Given the description of an element on the screen output the (x, y) to click on. 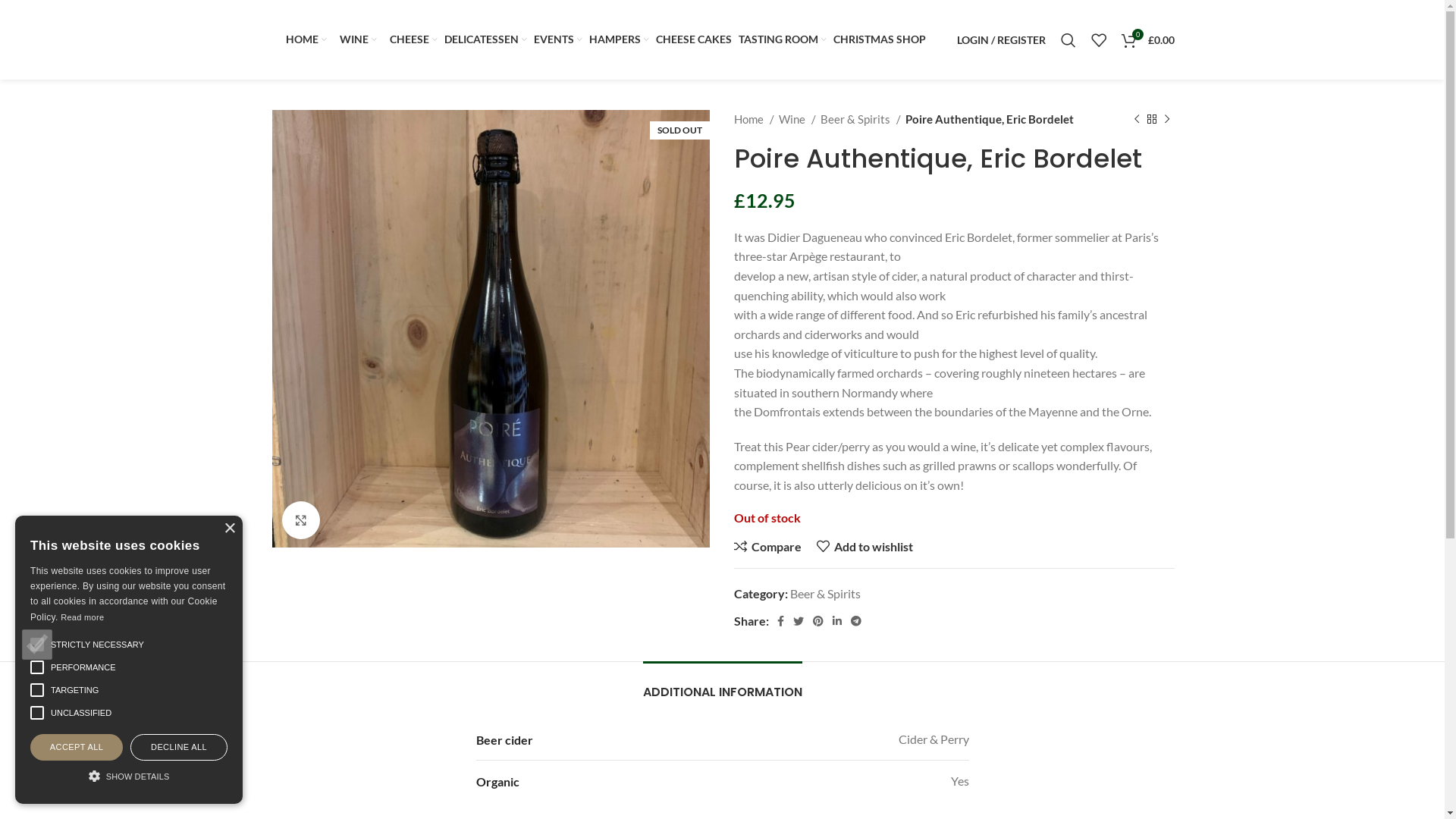
EVENTS Element type: text (557, 39)
YostratO Ltd Element type: text (566, 797)
Deli Element type: text (976, 504)
Beer & Spirits Element type: text (860, 118)
CHEESE CAKES Element type: text (693, 39)
CHRISTMAS SHOP Element type: text (879, 39)
Cheese Element type: text (985, 475)
CHEESE Element type: text (410, 39)
Big Green Egg Element type: text (1002, 561)
Read more Element type: text (81, 616)
TASTING ROOM Element type: text (782, 39)
Gifts Element type: text (978, 532)
HOME Element type: text (305, 39)
HAMPERS Element type: text (619, 39)
LOGIN / REGISTER Element type: text (1001, 39)
Search Element type: hover (1067, 39)
DELICATESSEN Element type: text (485, 39)
Wine Element type: text (979, 447)
ADDITIONAL INFORMATION Element type: text (722, 684)
Cookies Policy Element type: text (773, 504)
My Wishlist Element type: hover (1097, 39)
Contact Us Element type: text (764, 447)
Beer & Spirits Element type: text (825, 593)
Add to wishlist Element type: text (864, 546)
Compare Element type: text (767, 546)
Subscribe to our newsletter Element type: text (360, 609)
Poire Element type: hover (490, 328)
Home Element type: text (754, 118)
Privacy Policy Element type: text (771, 475)
Wine Element type: text (796, 118)
WINE Element type: text (354, 39)
